Given the description of an element on the screen output the (x, y) to click on. 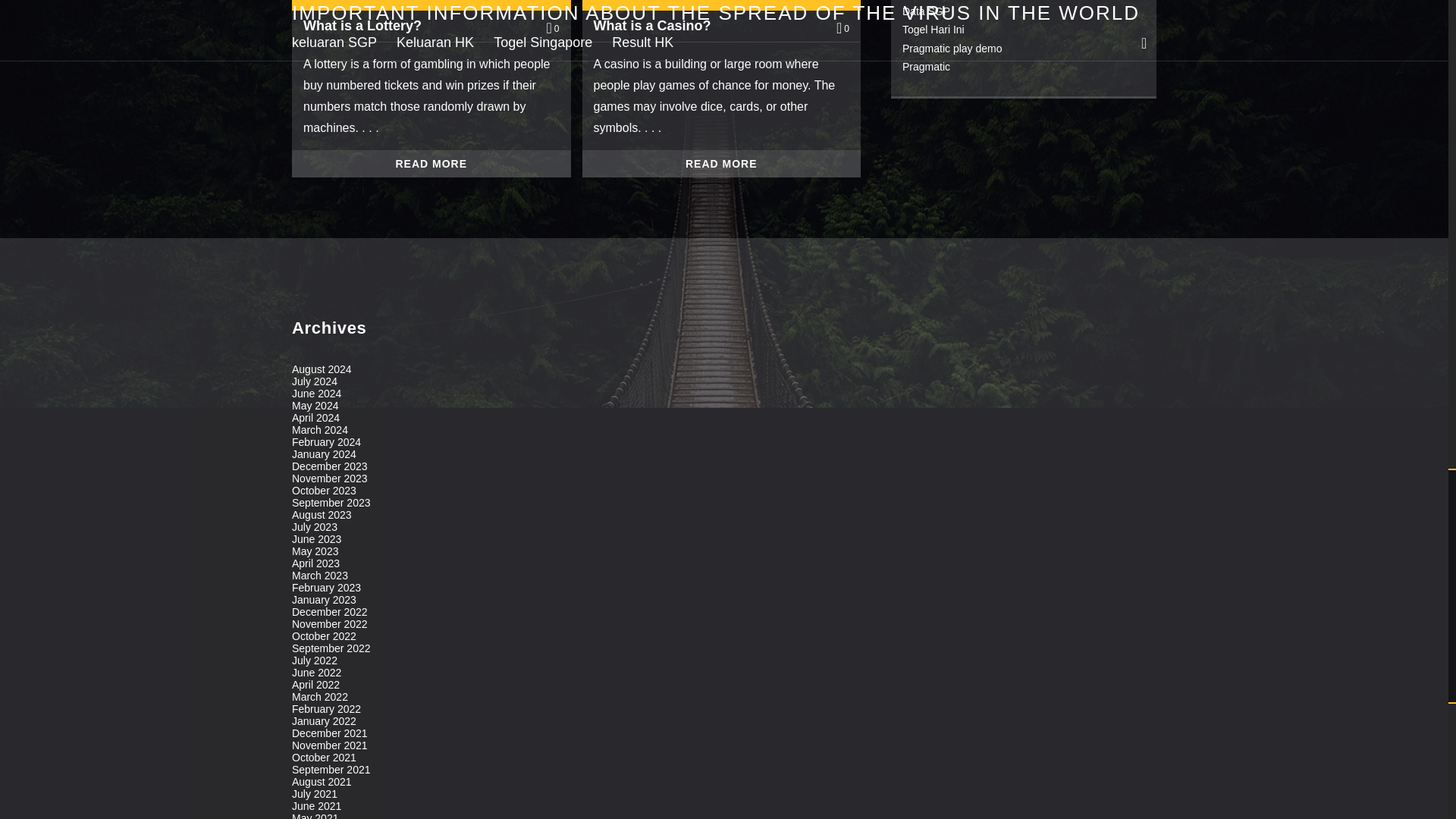
0 (552, 27)
What is a Lottery? (413, 26)
What is a Casino? (702, 26)
READ MORE (721, 163)
READ MORE (431, 163)
0 (841, 27)
